Given the description of an element on the screen output the (x, y) to click on. 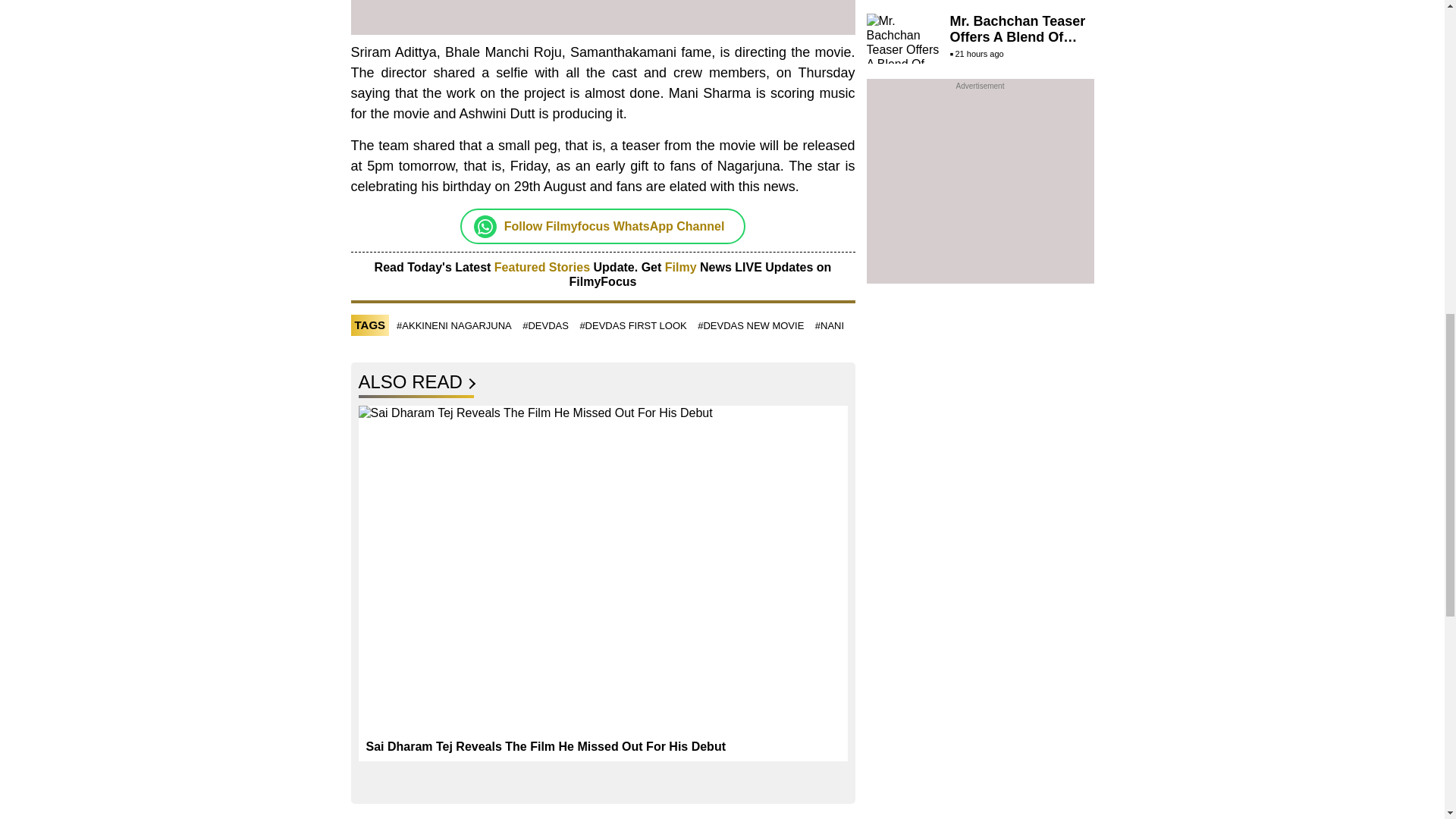
Featured Stories (542, 267)
Follow Filmyfocus WhatsApp Channel (614, 225)
Filmy (682, 267)
